Given the description of an element on the screen output the (x, y) to click on. 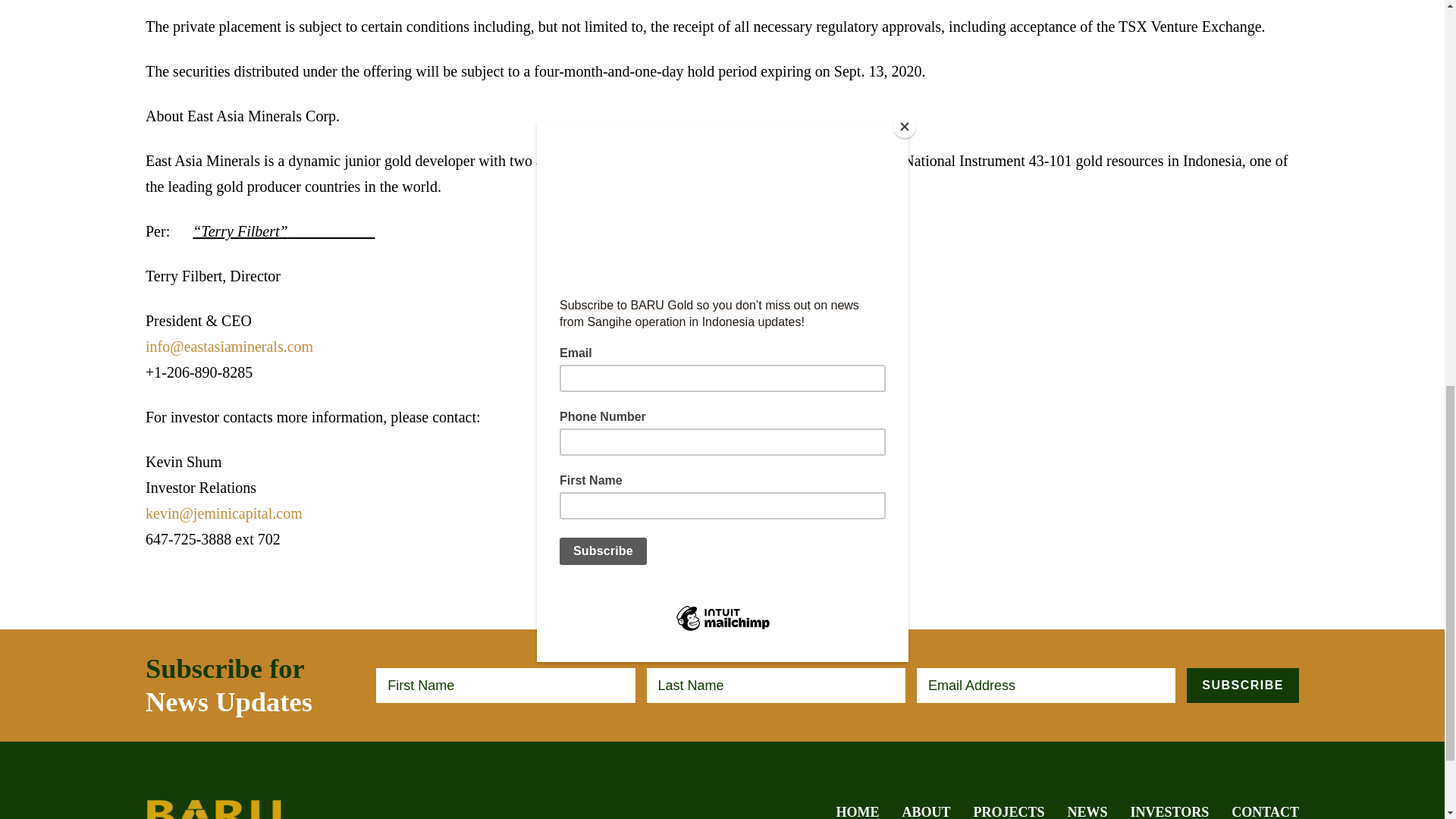
NEWS (1087, 810)
Subscribe (1242, 685)
CONTACT (1264, 810)
ABOUT (926, 810)
HOME (857, 810)
INVESTORS (1170, 810)
PROJECTS (1009, 810)
Subscribe (1242, 685)
